Given the description of an element on the screen output the (x, y) to click on. 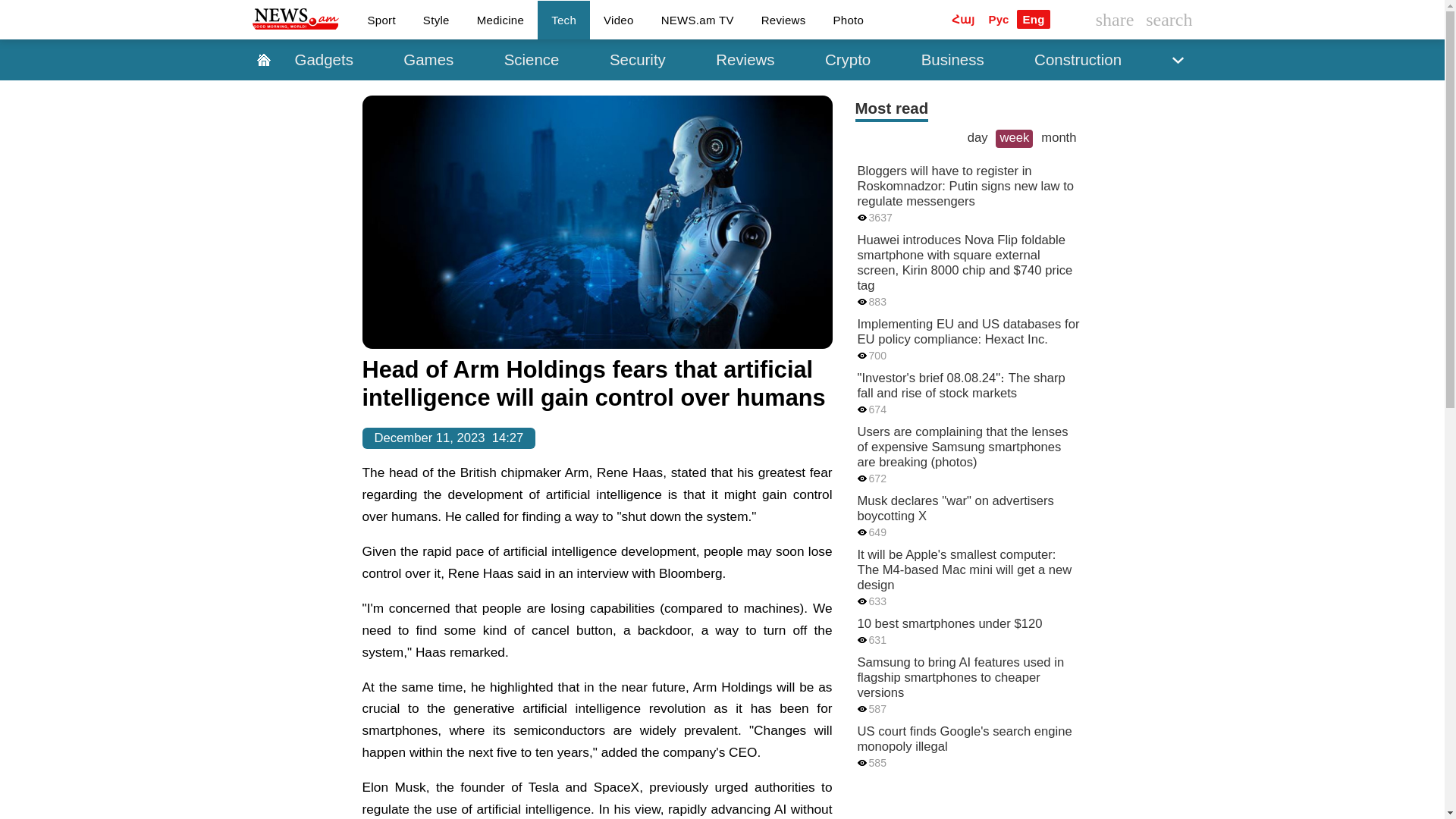
Style (436, 19)
Sport (381, 19)
Eng (1032, 18)
Medicine (500, 19)
Science (532, 59)
Crypto (847, 59)
Business (951, 59)
Reviews (783, 19)
Construction (1078, 59)
Video (618, 19)
